Given the description of an element on the screen output the (x, y) to click on. 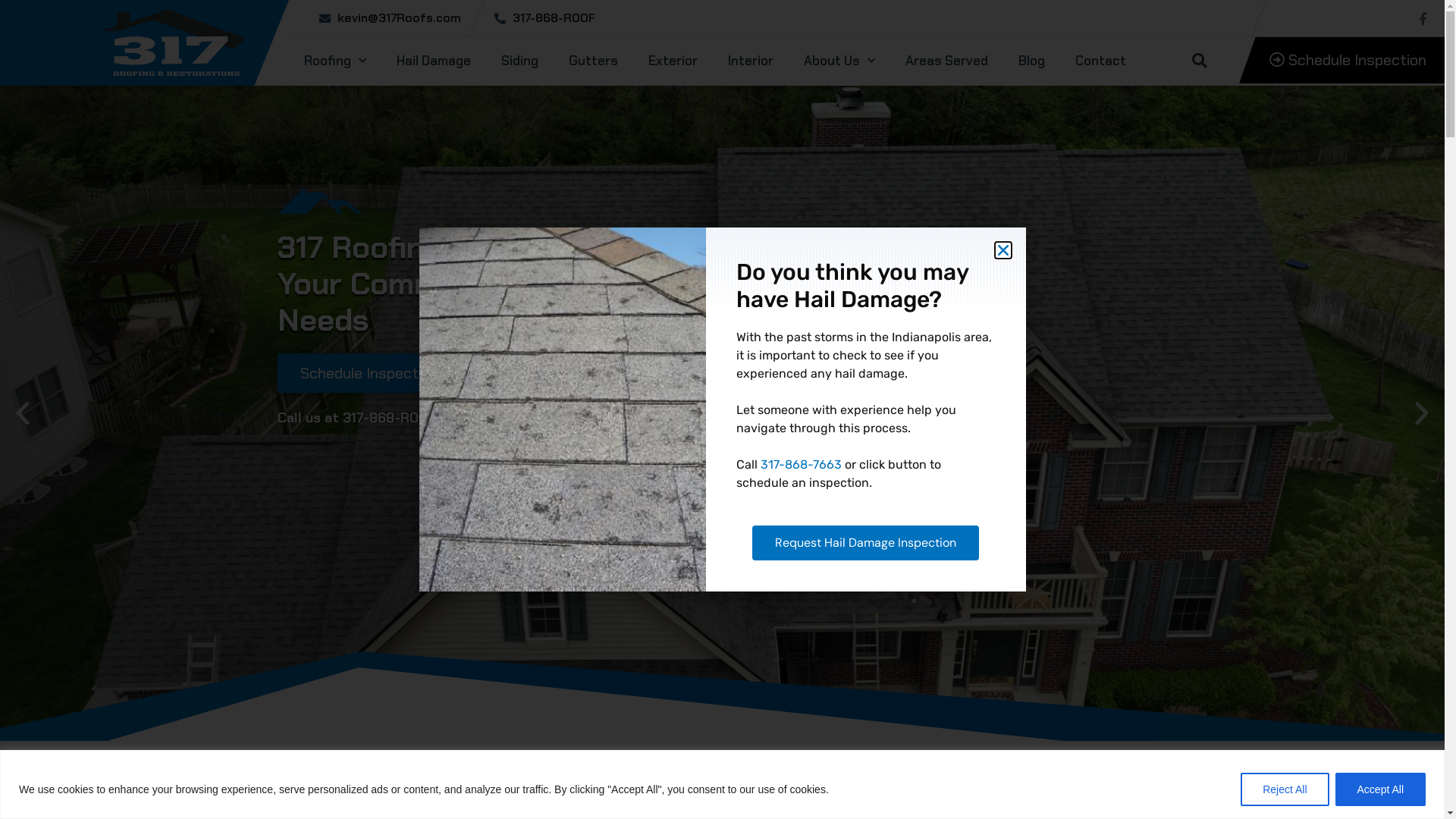
Contact Element type: text (1100, 59)
Accept All Element type: text (1380, 788)
Exterior Element type: text (672, 59)
317-868-ROOF Element type: text (388, 417)
Reject All Element type: text (1284, 788)
Request Hail Damage Inspection Element type: text (865, 542)
317-868-7663 Element type: text (800, 464)
Blog Element type: text (1031, 59)
kevin@317Roofs.com Element type: text (390, 18)
317-868-ROOF Element type: text (544, 18)
Schedule Inspection Element type: text (1341, 60)
About Us Element type: text (839, 59)
logo - 317 Roofing & Restorations Element type: hover (173, 42)
Areas Served Element type: text (946, 59)
Siding Element type: text (519, 59)
Gutters Element type: text (593, 59)
Hail Damage Element type: text (433, 59)
Interior Element type: text (750, 59)
Schedule Inspection Element type: text (376, 372)
Roofing Element type: text (335, 59)
